Given the description of an element on the screen output the (x, y) to click on. 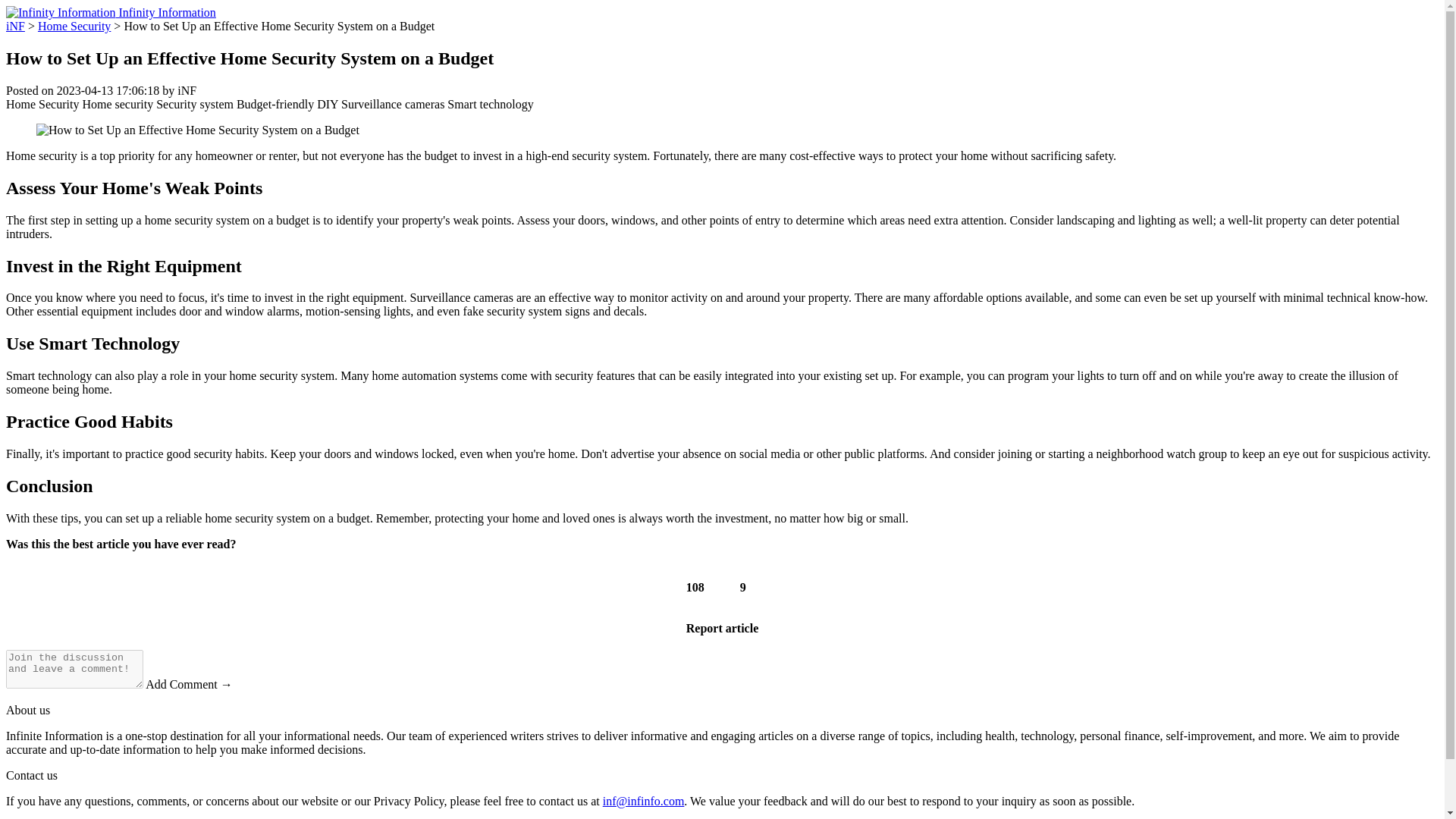
iNF (14, 25)
Security system (193, 103)
DIY (327, 103)
Infinity Information (110, 11)
Smart technology (489, 103)
Home Security (41, 103)
Budget-friendly (274, 103)
Surveillance cameras (392, 103)
Home security (116, 103)
Home Security (73, 25)
